Given the description of an element on the screen output the (x, y) to click on. 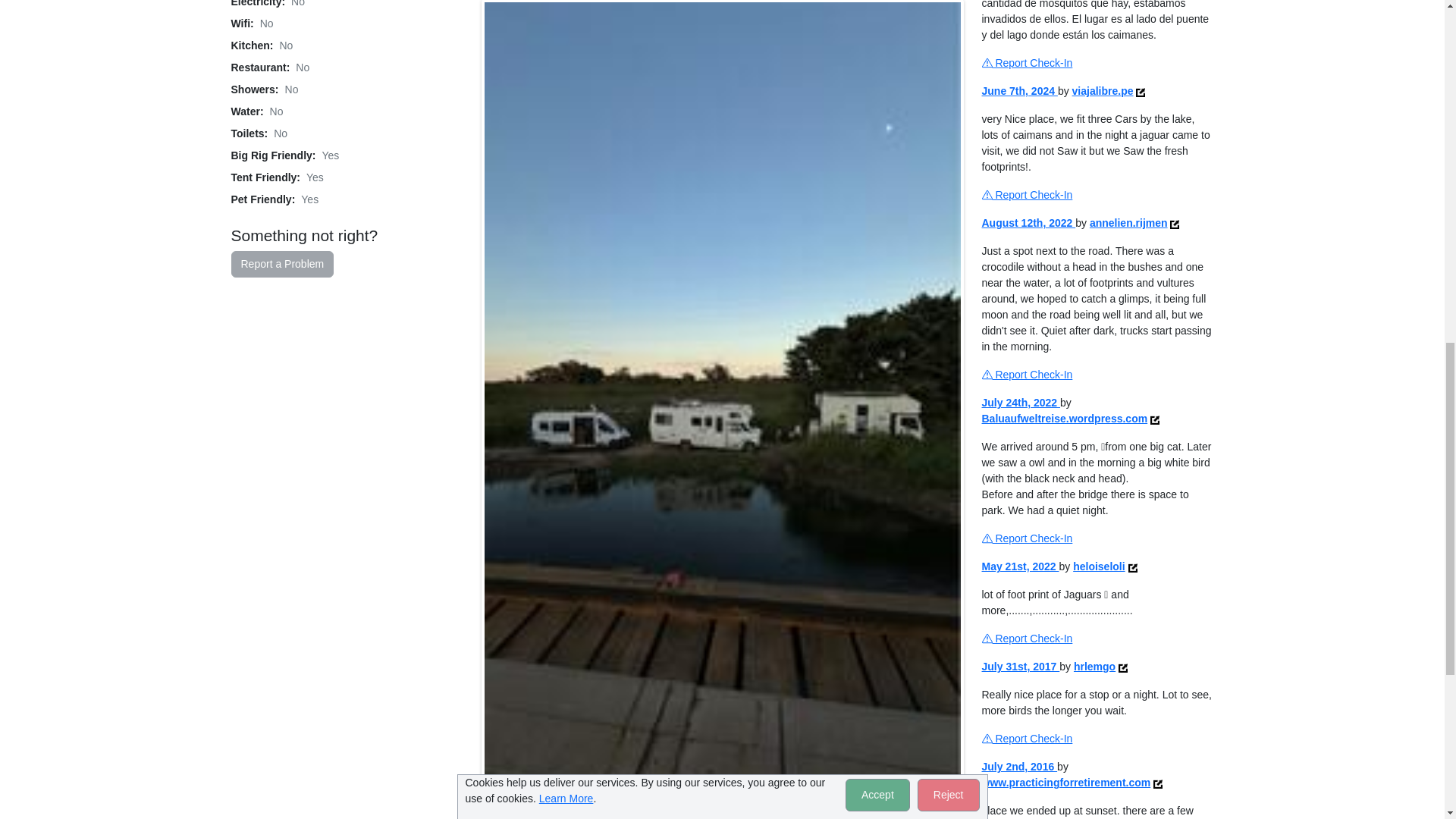
Report a Problem (281, 263)
Report a Problem (281, 263)
